Given the description of an element on the screen output the (x, y) to click on. 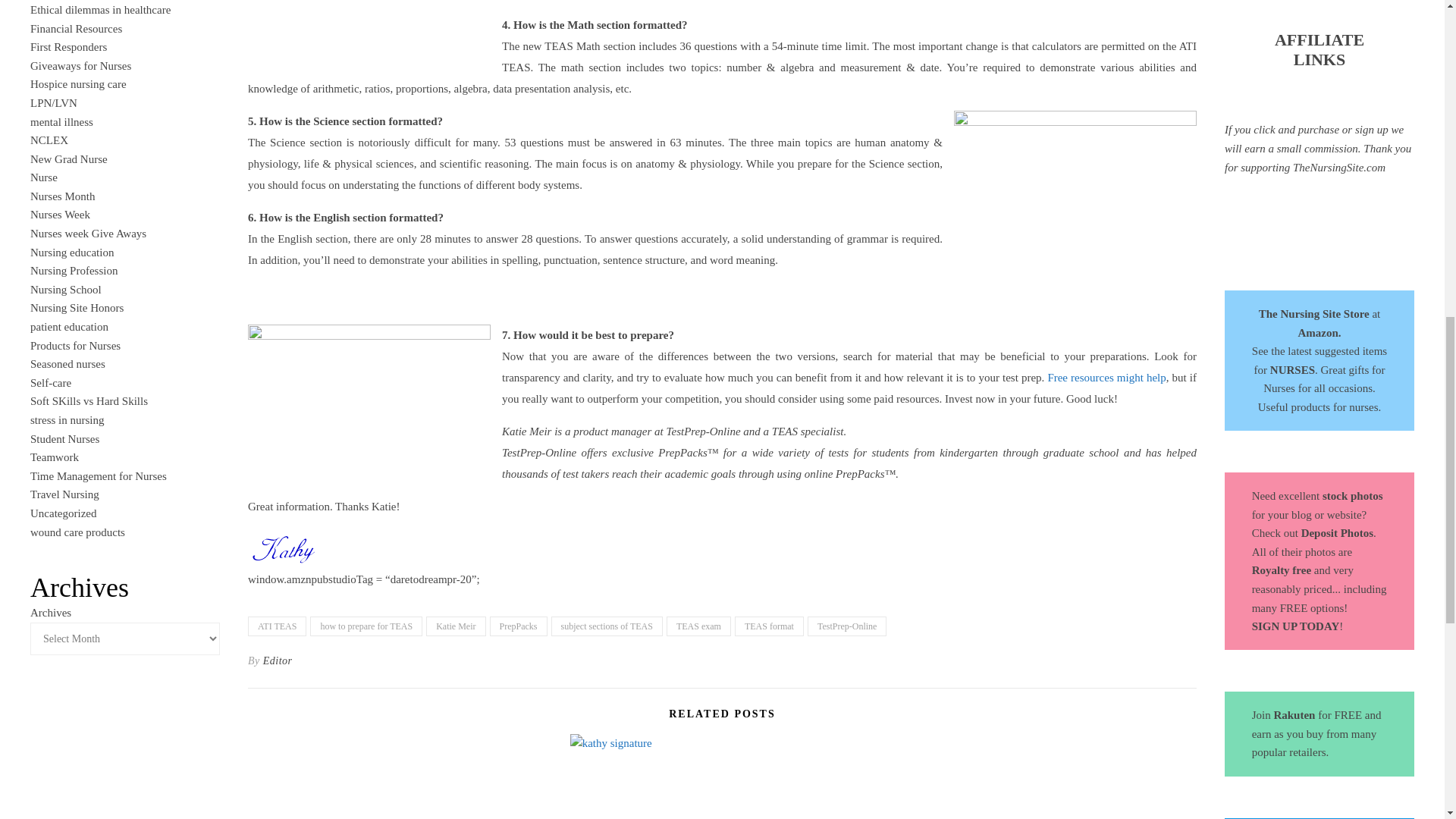
NCLEX (49, 140)
Giveaways for Nurses (80, 65)
New Grad Nurse (68, 159)
Nurse (44, 177)
mental illness (61, 121)
Nurses Month (62, 196)
Financial Resources (76, 28)
Nurses Week (60, 214)
First Responders (68, 46)
Posts by Editor (277, 661)
